Given the description of an element on the screen output the (x, y) to click on. 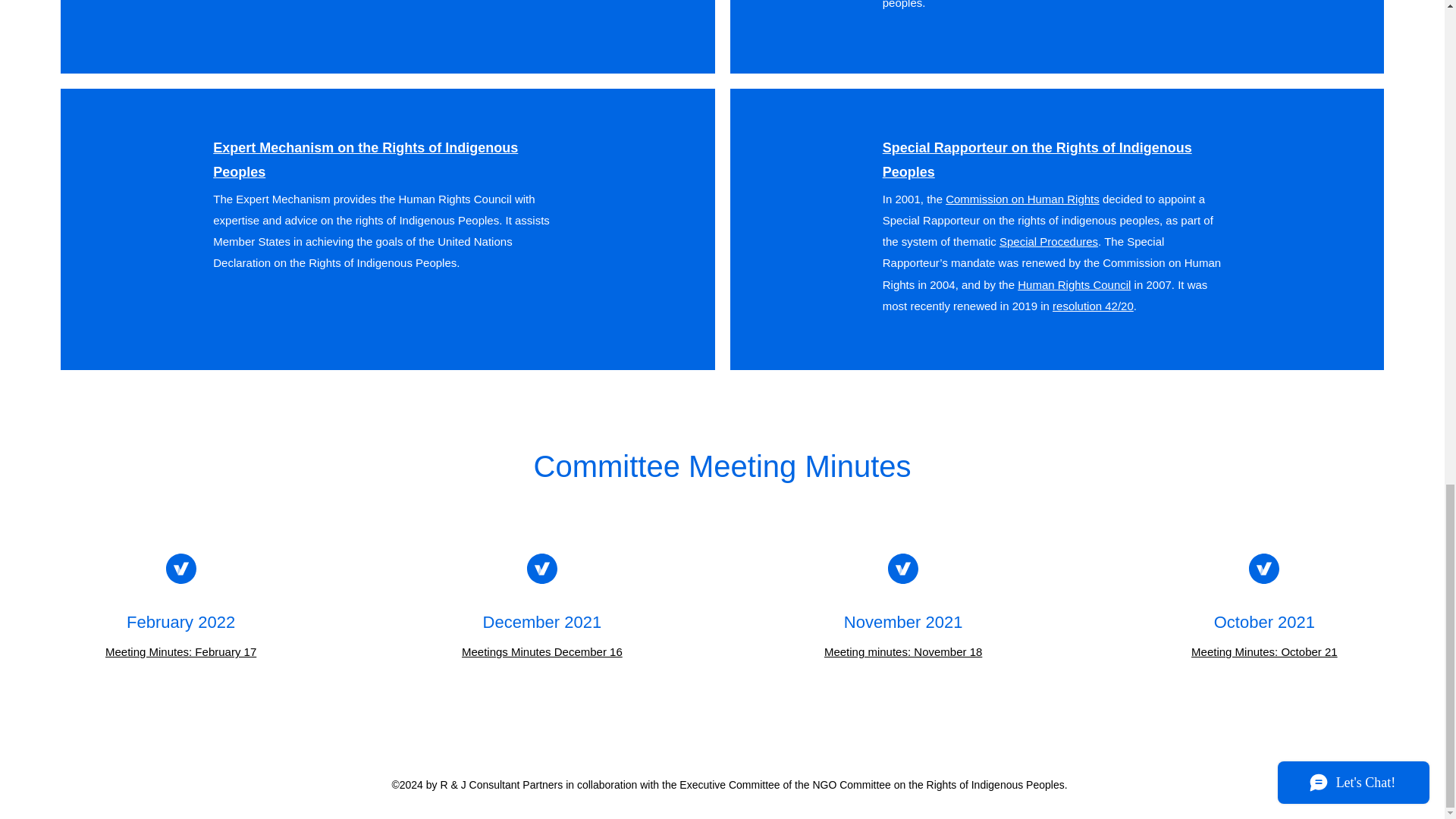
Meetings Minutes December 16 (542, 651)
Commission on Human Rights (1021, 198)
Meeting Minutes: October 21 (1264, 651)
Special Procedures (1047, 241)
Special Rapporteur on the Rights of Indigenous Peoples (1037, 159)
Expert Mechanism on the Rights of Indigenous Peoples (365, 159)
Meeting minutes: November 18 (902, 651)
Meeting Minutes: February 17 (180, 651)
Human Rights Council (1074, 284)
